Given the description of an element on the screen output the (x, y) to click on. 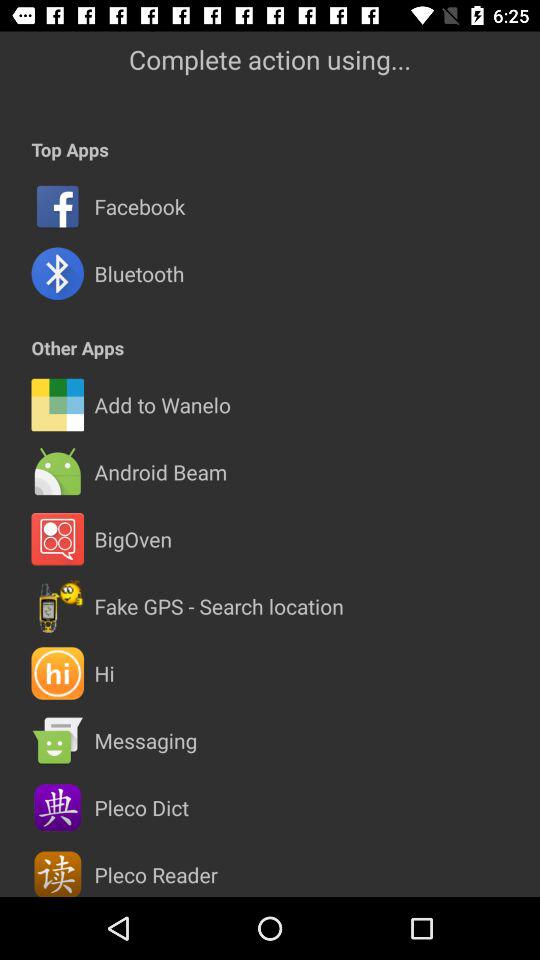
tap the pleco reader item (155, 874)
